Given the description of an element on the screen output the (x, y) to click on. 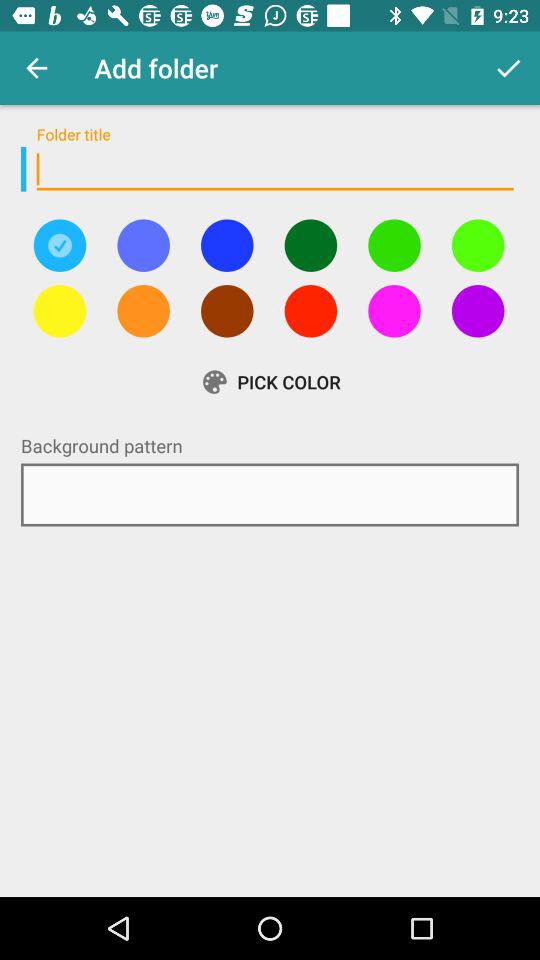
this is selected button showing (59, 245)
